Given the description of an element on the screen output the (x, y) to click on. 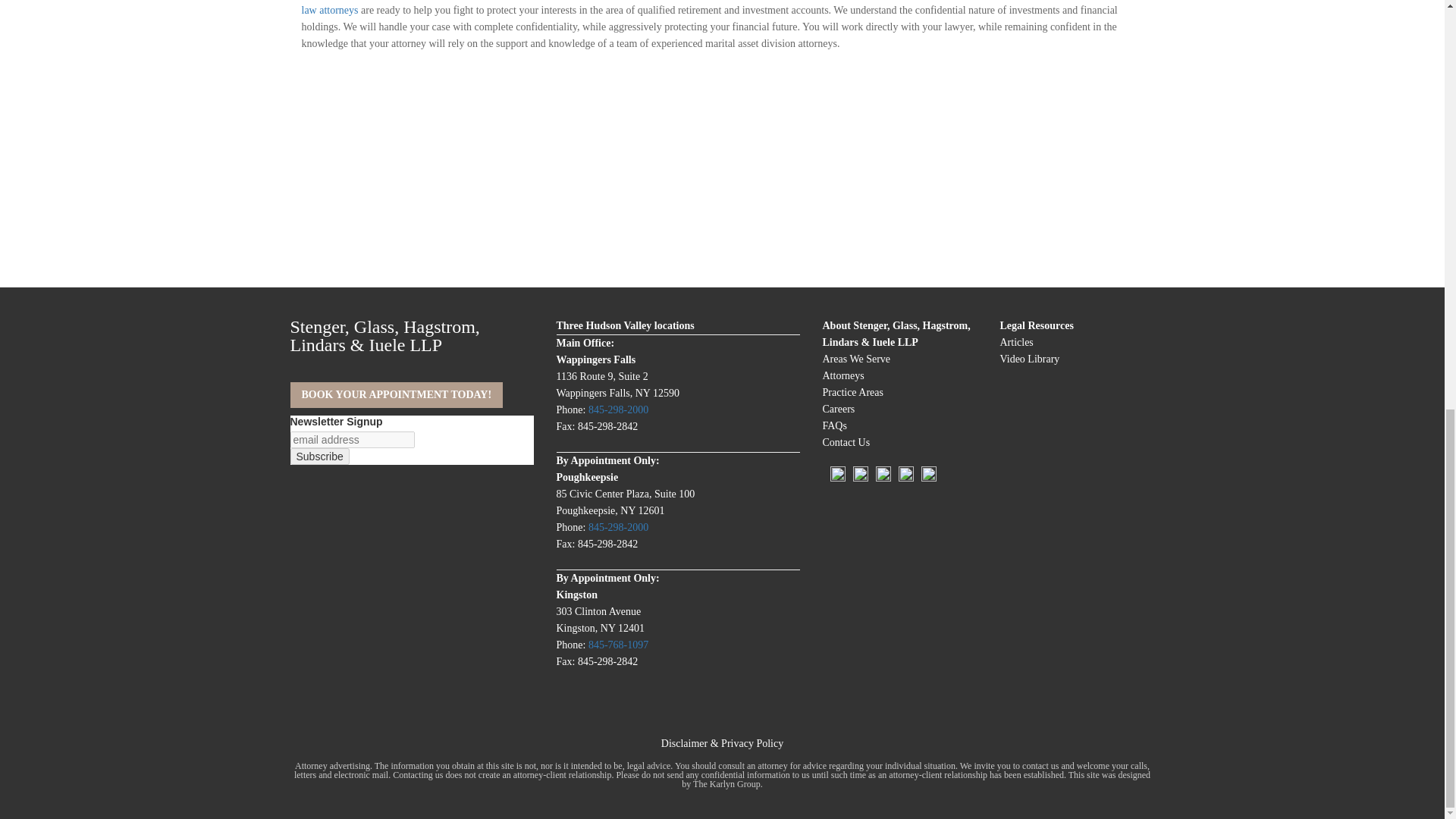
Subscribe (319, 456)
